Given the description of an element on the screen output the (x, y) to click on. 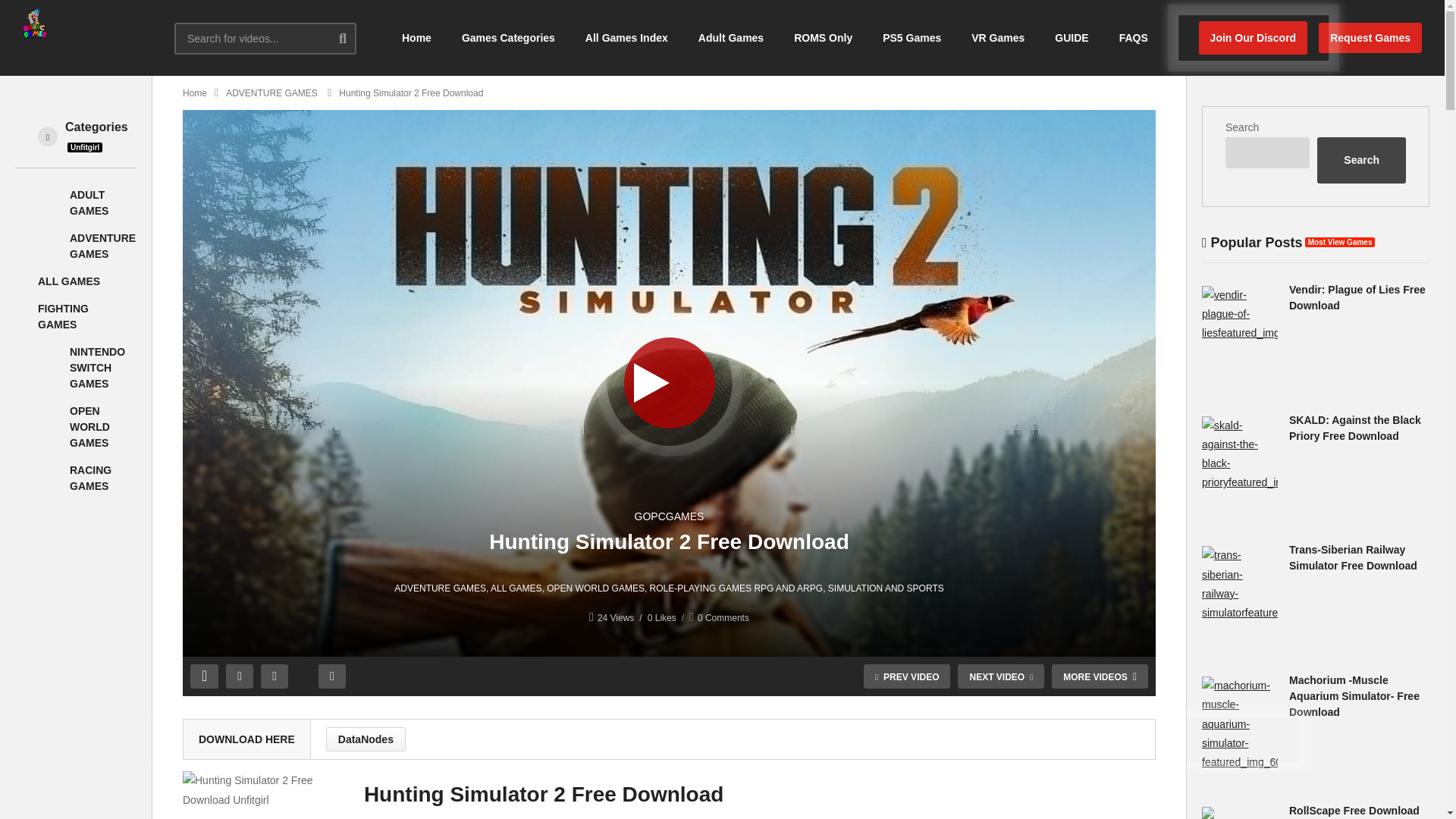
ALL GAMES (68, 281)
NINTENDO SWITCH GAMES (97, 367)
Request Games (1370, 37)
RACING GAMES (90, 478)
SEARCH (354, 37)
ADVENTURE GAMES (102, 245)
NINTENDO SWITCH GAMES (49, 373)
ADVENTURE GAMES (102, 245)
ADVENTURE GAMES (49, 251)
PS5 Games (911, 38)
View all posts in ADVENTURE GAMES (440, 588)
FIGHTING GAMES (62, 316)
NINTENDO SWITCH GAMES (97, 367)
VR Games (997, 38)
Games Categories (508, 38)
